Given the description of an element on the screen output the (x, y) to click on. 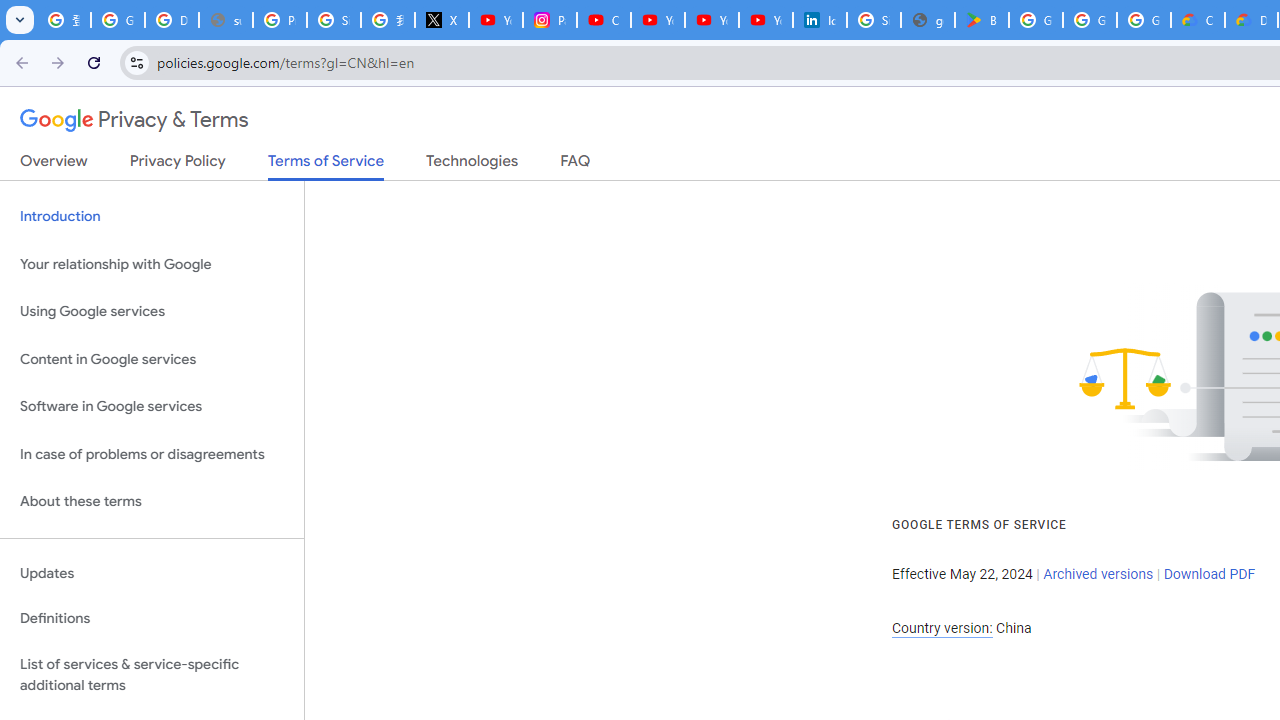
In case of problems or disagreements (152, 453)
Content in Google services (152, 358)
List of services & service-specific additional terms (152, 674)
Country version: (942, 628)
YouTube Culture & Trends - YouTube Top 10, 2021 (711, 20)
About these terms (152, 502)
Bluey: Let's Play! - Apps on Google Play (981, 20)
